Given the description of an element on the screen output the (x, y) to click on. 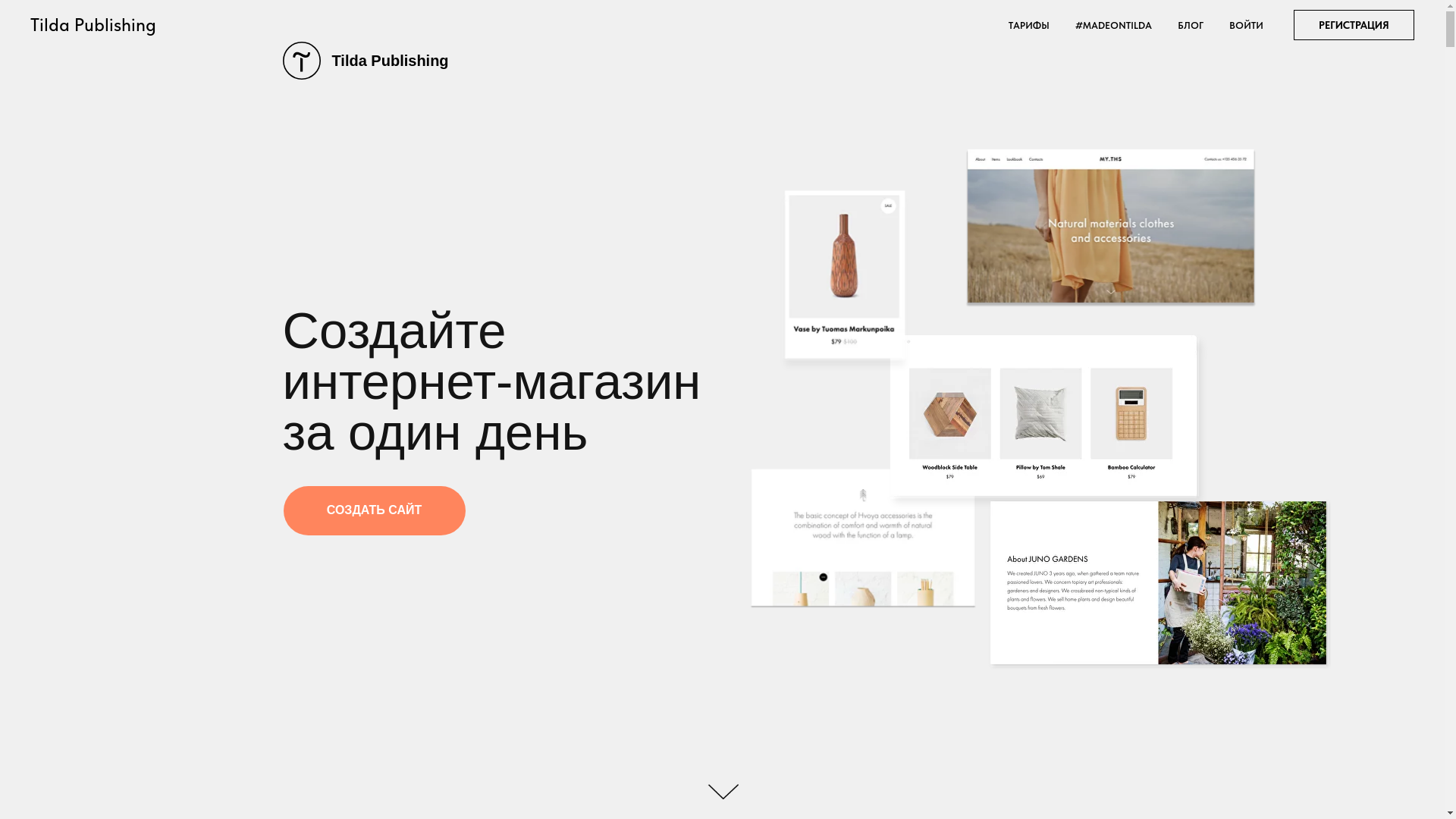
#MADEONTILDA Element type: text (1113, 25)
Tilda Publishing Element type: text (104, 26)
Tilda Publishing Element type: text (415, 60)
